Given the description of an element on the screen output the (x, y) to click on. 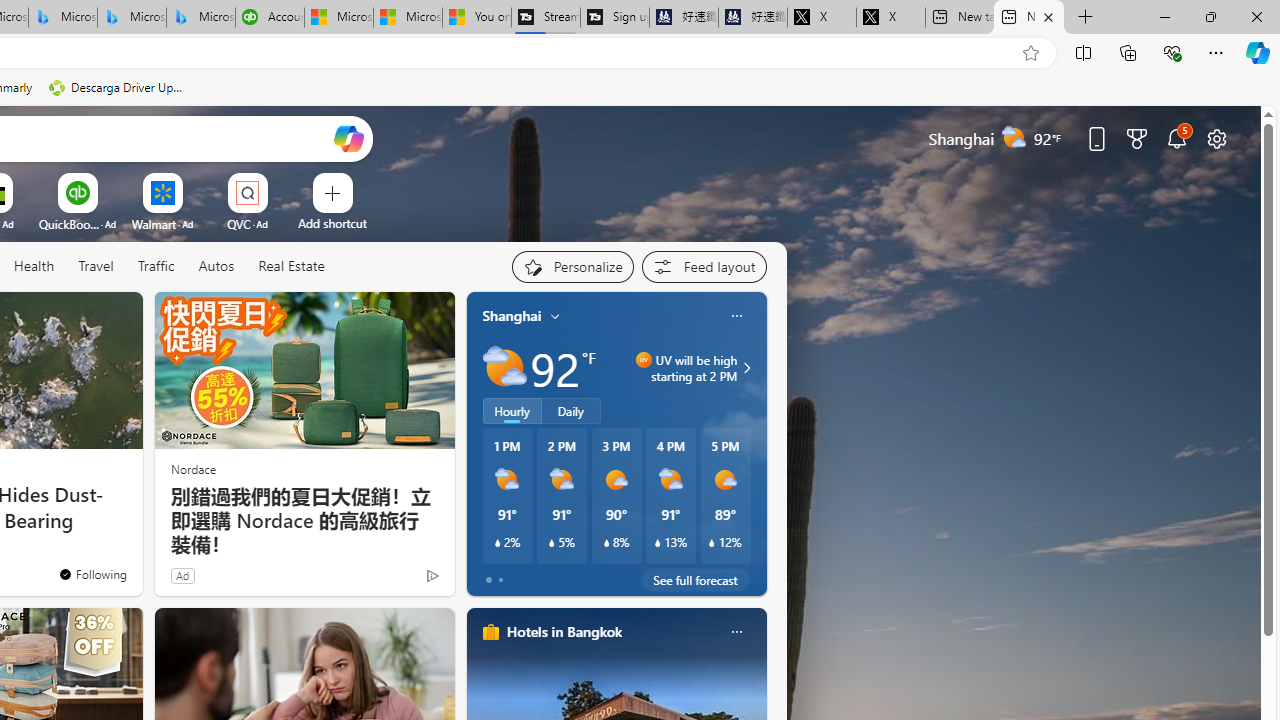
Add a site (332, 223)
More options (736, 631)
Travel (95, 267)
Accounting Software for Accountants, CPAs and Bookkeepers (269, 17)
Nordace (193, 468)
UV will be high starting at 2 PM (744, 367)
Notifications (1176, 138)
Autos (216, 267)
Health (33, 267)
See full forecast (695, 579)
Microsoft Start Sports (338, 17)
Personalize your feed" (571, 266)
Feed settings (703, 266)
